Given the description of an element on the screen output the (x, y) to click on. 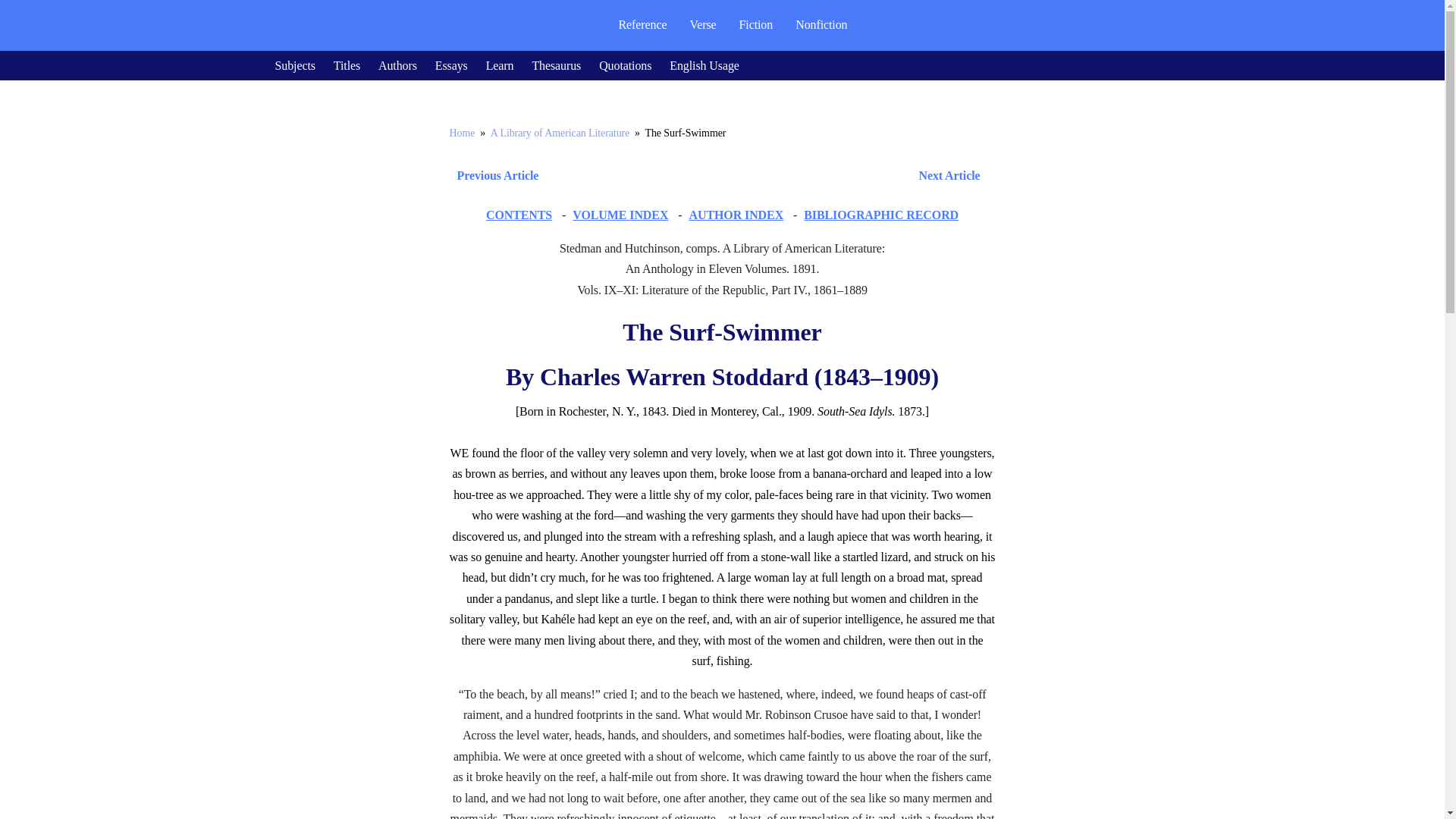
A Library of American Literature (559, 132)
Titles (346, 65)
Learn (499, 65)
BIBLIOGRAPHIC RECORD (880, 214)
Previous Article (493, 175)
AUTHOR INDEX (735, 214)
English Usage (704, 65)
VOLUME INDEX (620, 214)
Quotations (624, 65)
Next Article (766, 175)
